Given the description of an element on the screen output the (x, y) to click on. 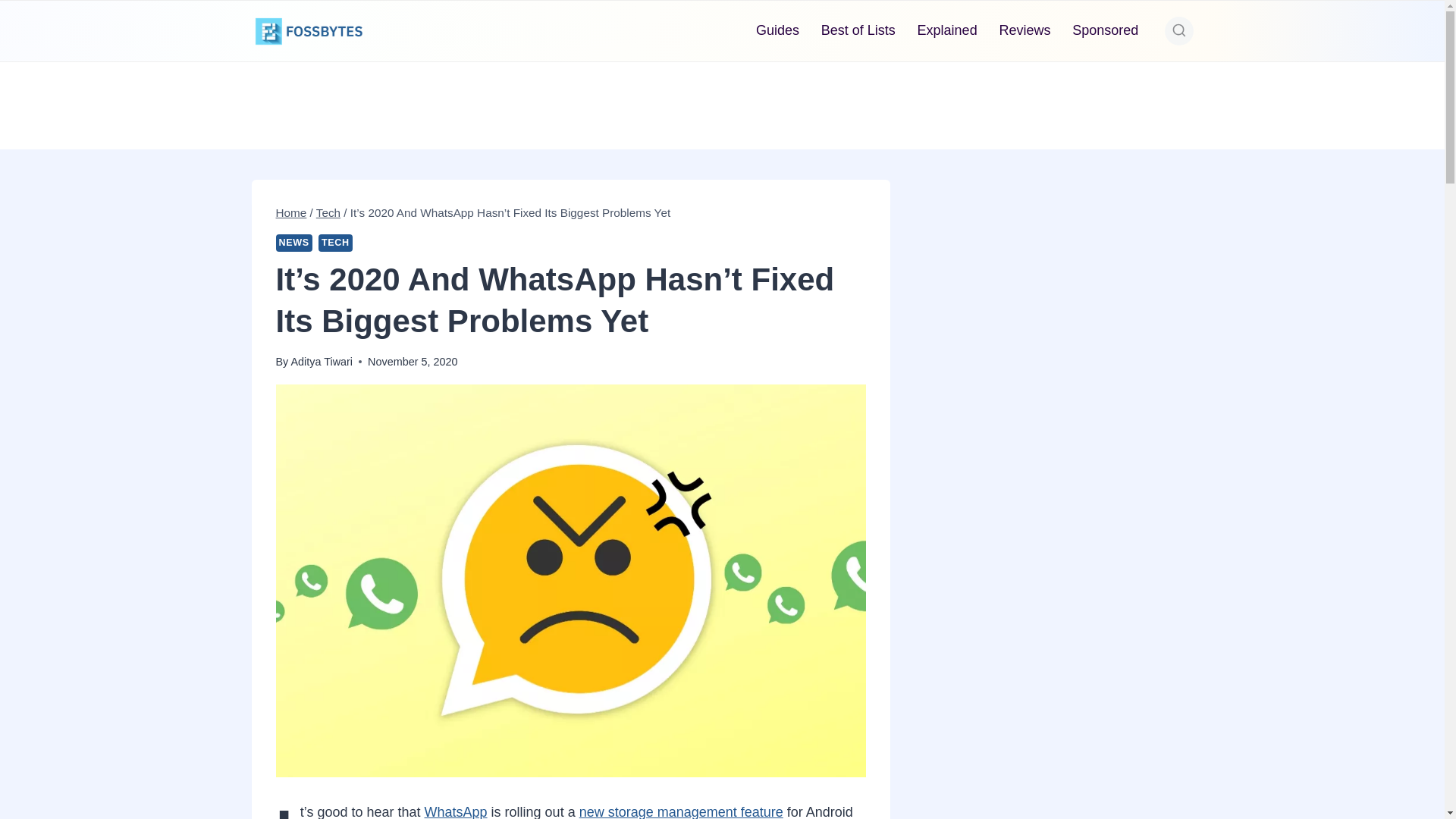
Best of Lists (857, 30)
Reviews (1024, 30)
Advertisement (721, 101)
Explained (946, 30)
TECH (335, 242)
NEWS (294, 242)
Aditya Tiwari (320, 361)
Guides (777, 30)
new storage management feature (681, 811)
Home (291, 212)
